Given the description of an element on the screen output the (x, y) to click on. 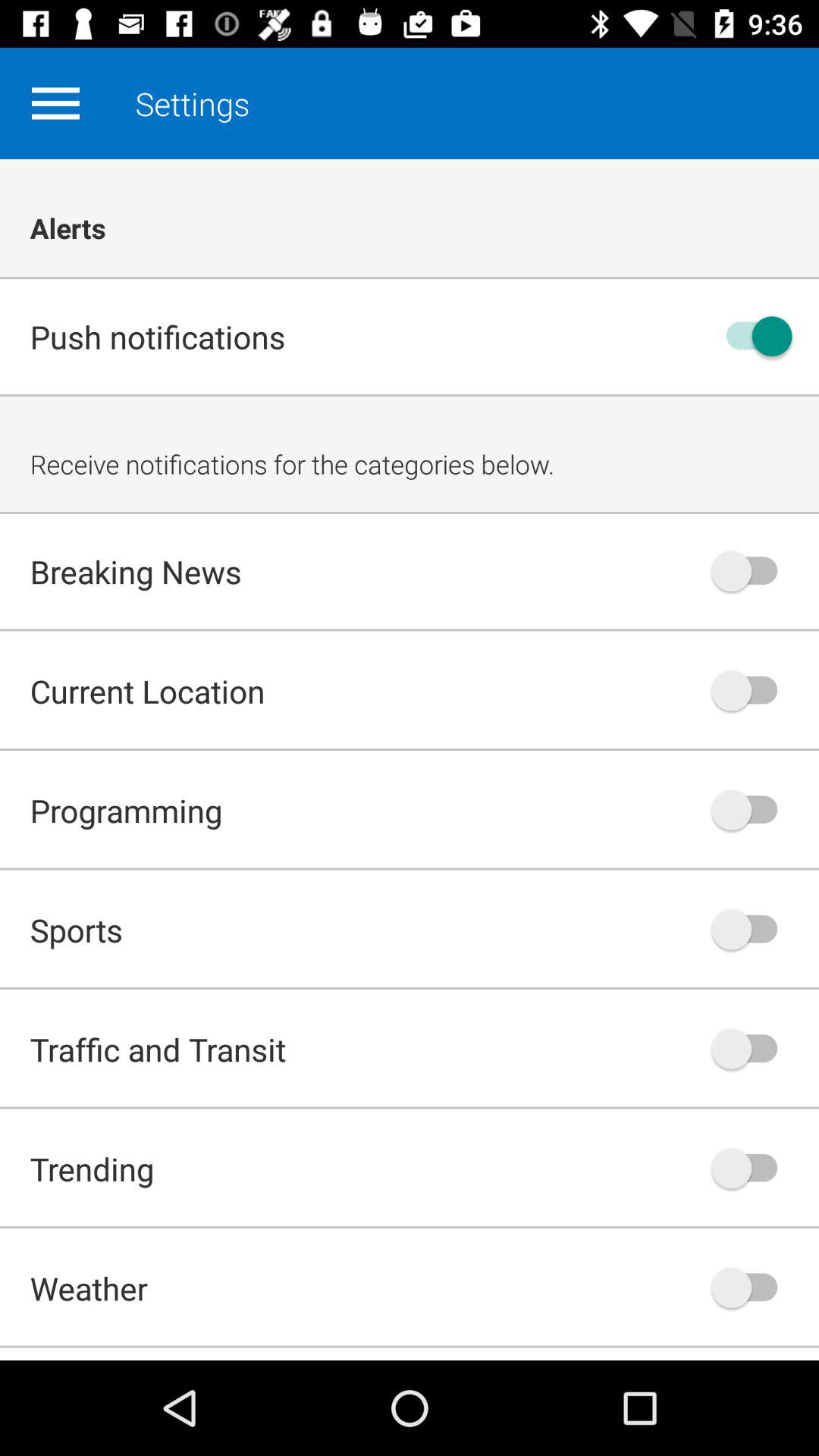
turn on trending notifications (751, 1168)
